Given the description of an element on the screen output the (x, y) to click on. 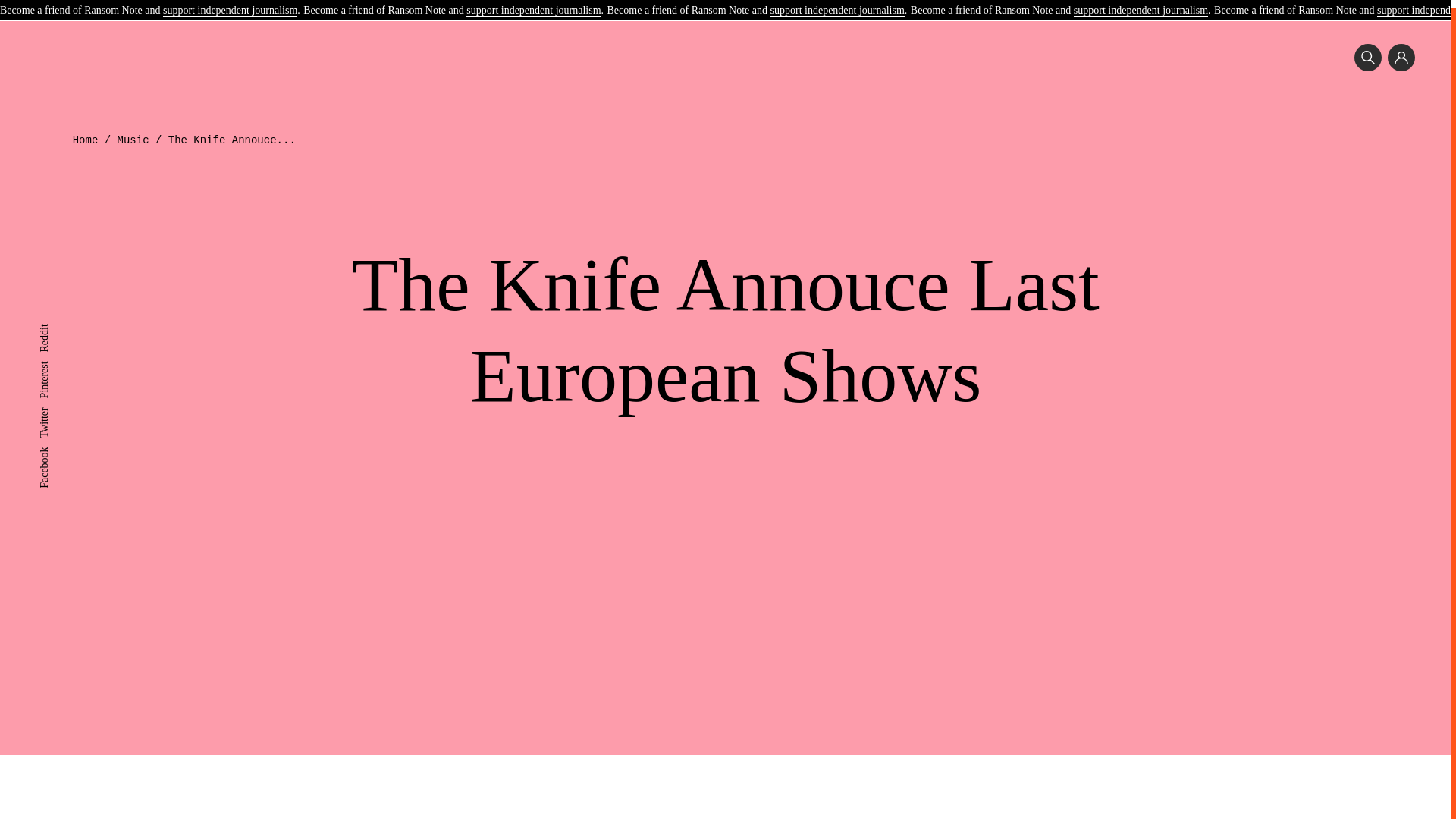
Twitter (53, 404)
Home (85, 140)
Reddit (52, 321)
support independent journalism (837, 4)
support independent journalism (230, 4)
Facebook (59, 444)
support independent journalism (532, 4)
Music (133, 140)
Pinterest (57, 358)
support independent journalism (1141, 4)
